Given the description of an element on the screen output the (x, y) to click on. 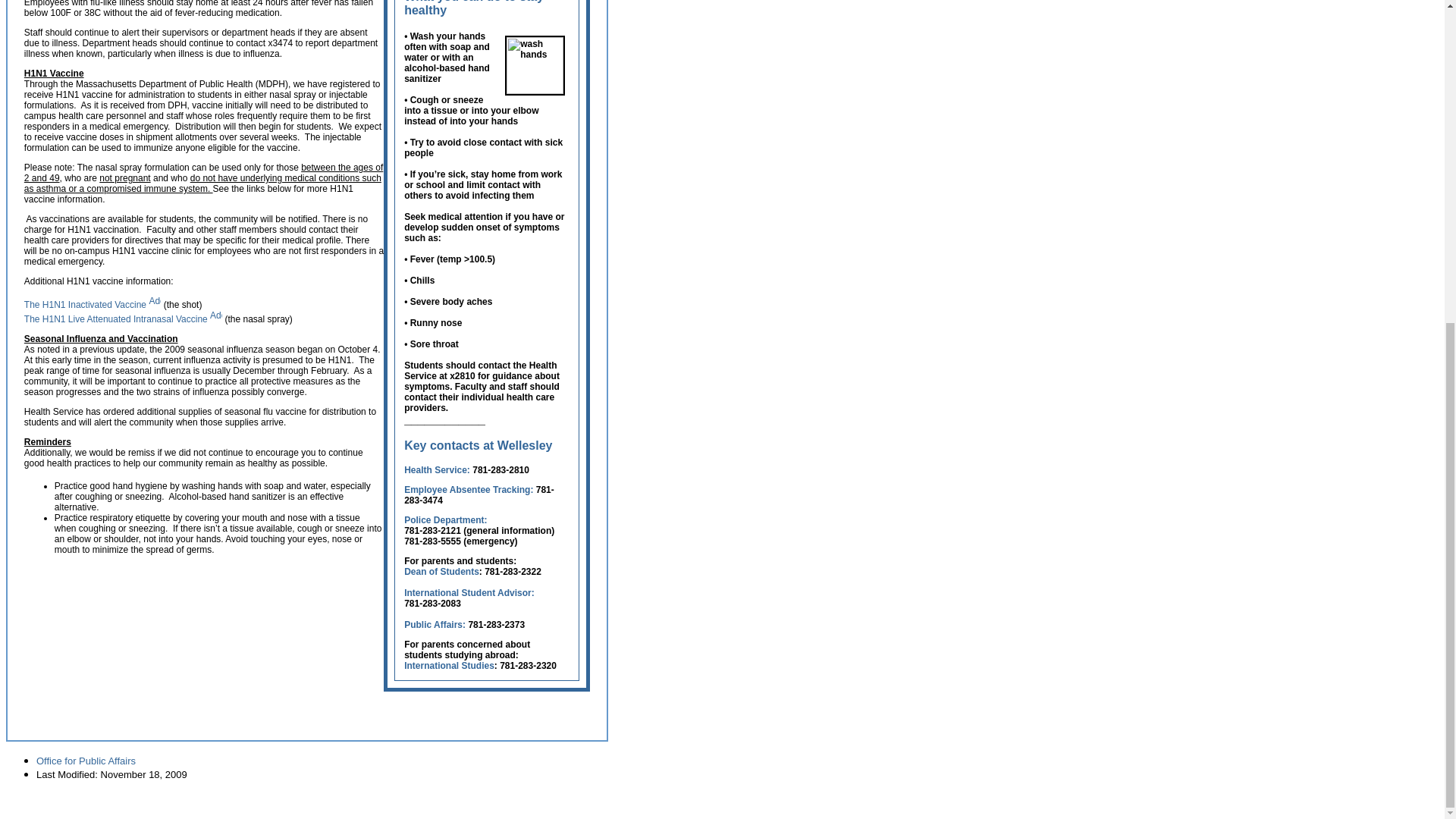
The H1N1 Live Attenuated Intranasal Vaccine  (123, 318)
The H1N1 Inactivated Vaccine  (92, 304)
Dean of Students (441, 571)
International Student Advisor: (469, 593)
International Studies (449, 665)
Public Affairs: (434, 624)
Office for Public Affairs (85, 759)
Police Department: (445, 520)
Health Service (435, 470)
